Given the description of an element on the screen output the (x, y) to click on. 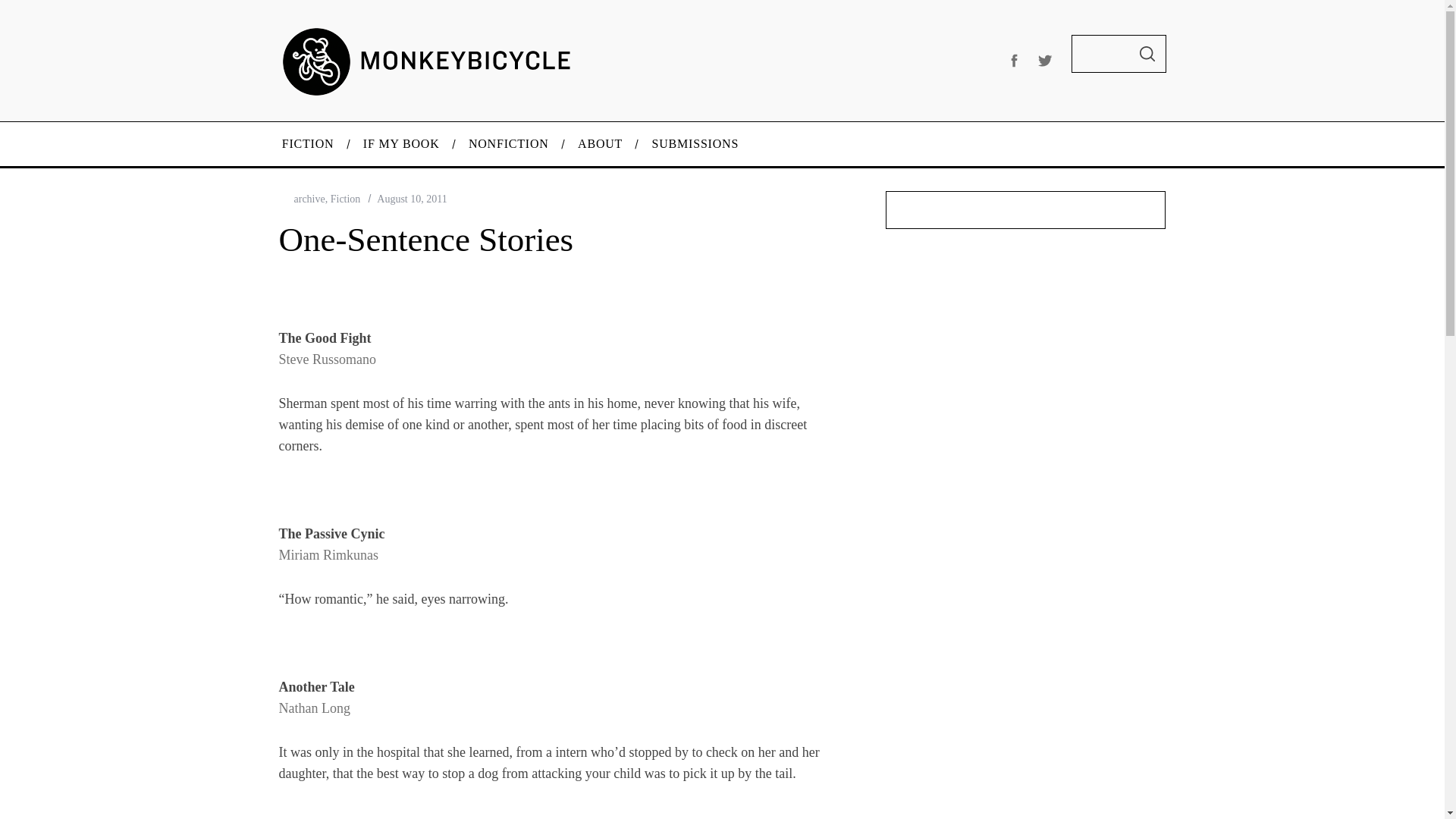
archive (309, 198)
Miriam Rimkunas (328, 554)
ABOUT (600, 144)
Nathan Long (314, 708)
Fiction (345, 198)
Steve Russomano (328, 359)
SUBMISSIONS (694, 144)
SEARCH (1147, 53)
FICTION (306, 144)
NONFICTION (508, 144)
